Given the description of an element on the screen output the (x, y) to click on. 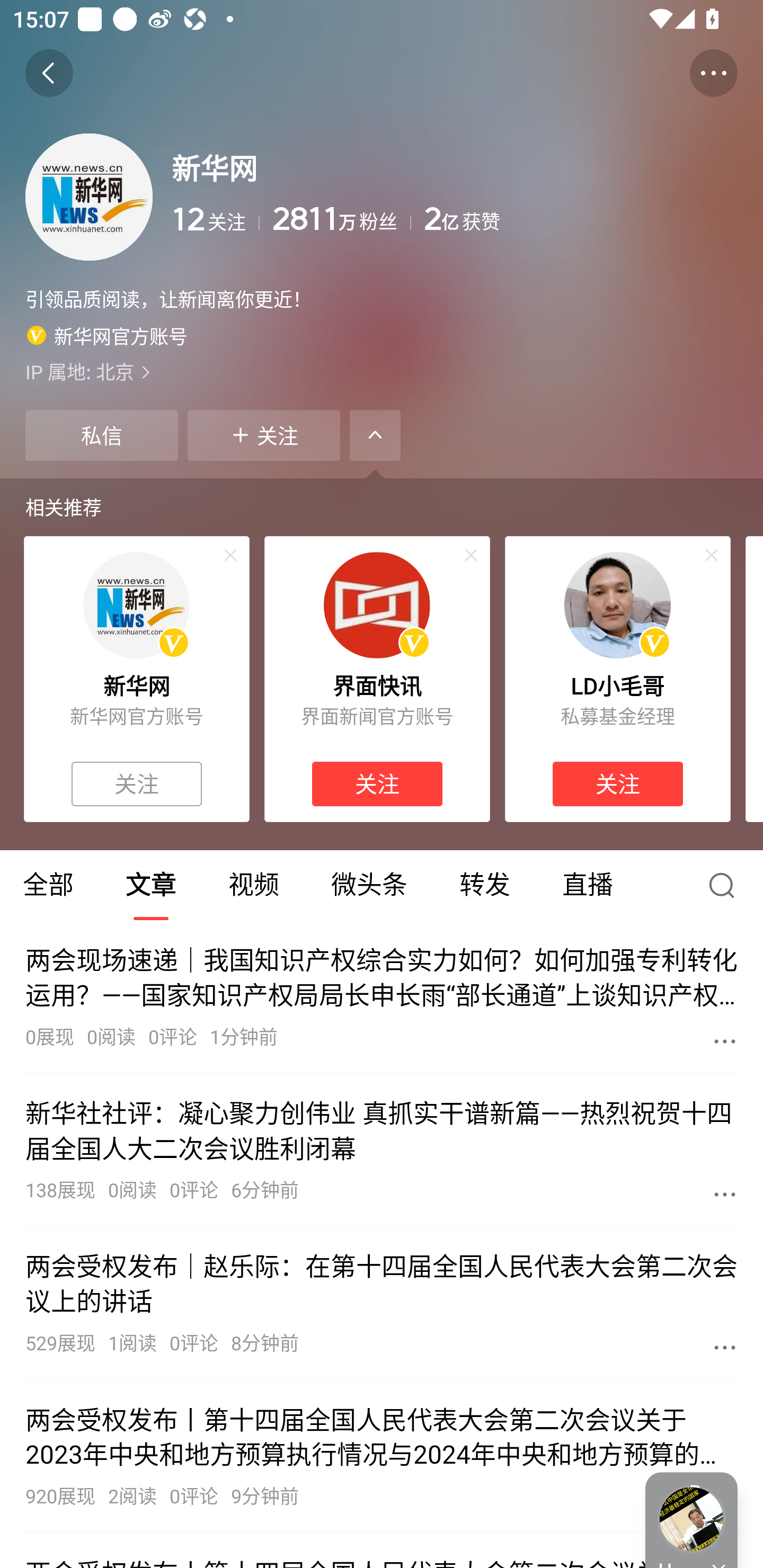
返回 (49, 72)
更多操作 (713, 72)
头像 (88, 196)
12 关注 (215, 219)
2811万 粉丝 (341, 219)
2亿 获赞 (580, 219)
新华网官方账号 (106, 335)
IP 属地: 北京 (381, 371)
私信 (101, 434)
     关注 (263, 434)
展开相关推荐，按钮 (374, 434)
新华网头像 新华网 新华网官方账号 关注 关注 不感兴趣 (136, 678)
不感兴趣 (230, 554)
界面快讯头像 界面快讯 界面新闻官方账号 关注 关注 不感兴趣 (376, 678)
不感兴趣 (470, 554)
LD小毛哥头像 LD小毛哥 私募基金经理 关注 关注 不感兴趣 (617, 678)
不感兴趣 (711, 554)
新华网头像 (136, 604)
界面快讯头像 (376, 604)
LD小毛哥头像 (617, 604)
关注 (136, 783)
关注 (377, 783)
关注 (617, 783)
全部 (49, 884)
文章 (150, 884)
视频 (253, 884)
微头条 (369, 884)
转发 (484, 884)
直播 (587, 884)
搜索 (726, 884)
更多 (724, 1040)
更多 (724, 1193)
更多 (724, 1346)
当前进度 3% 暂停 关闭 (691, 1520)
